Given the description of an element on the screen output the (x, y) to click on. 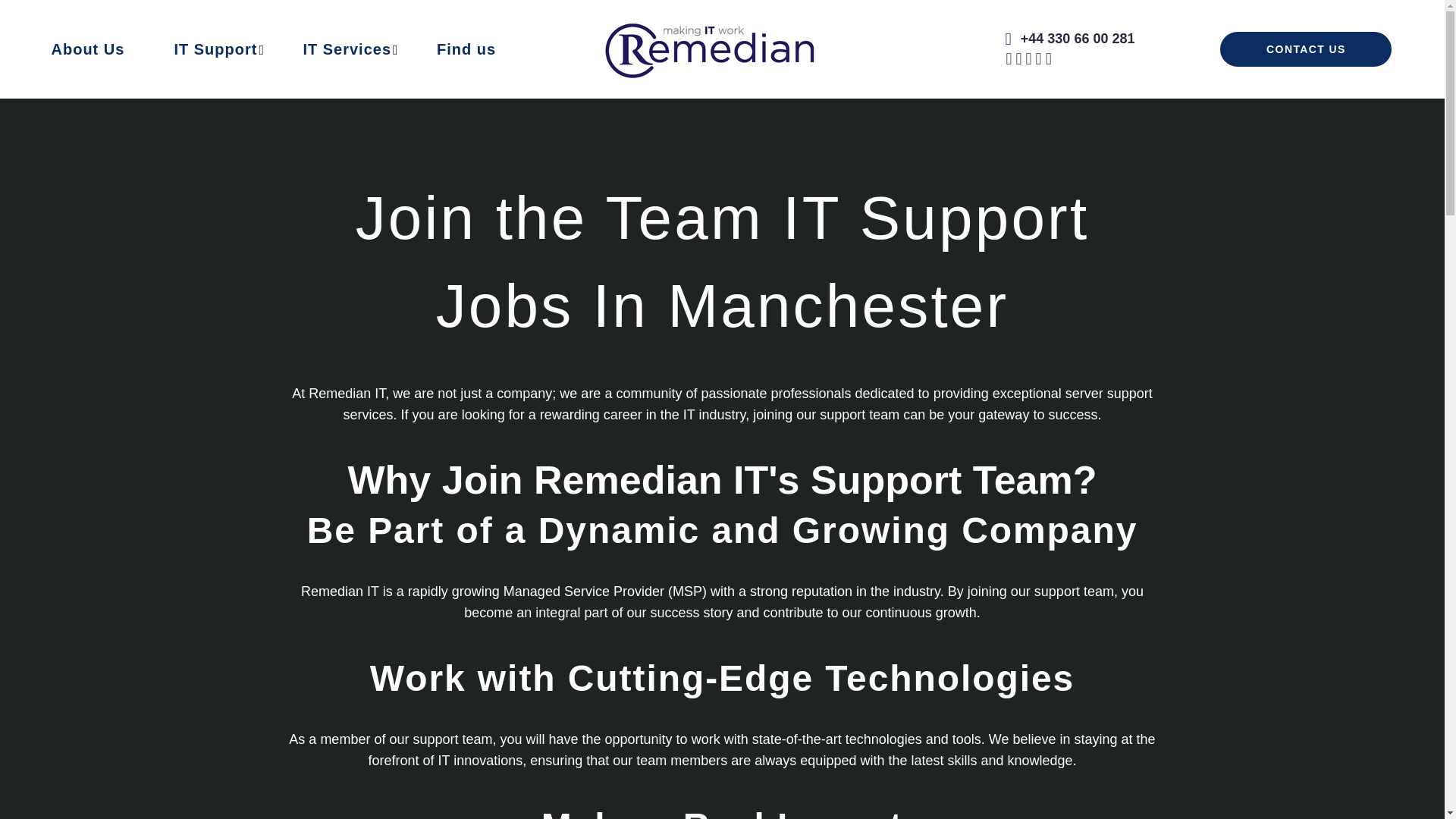
IT Support (215, 49)
Find us (466, 49)
About Us (87, 49)
IT Services (346, 49)
CONTACT US (1305, 48)
